Given the description of an element on the screen output the (x, y) to click on. 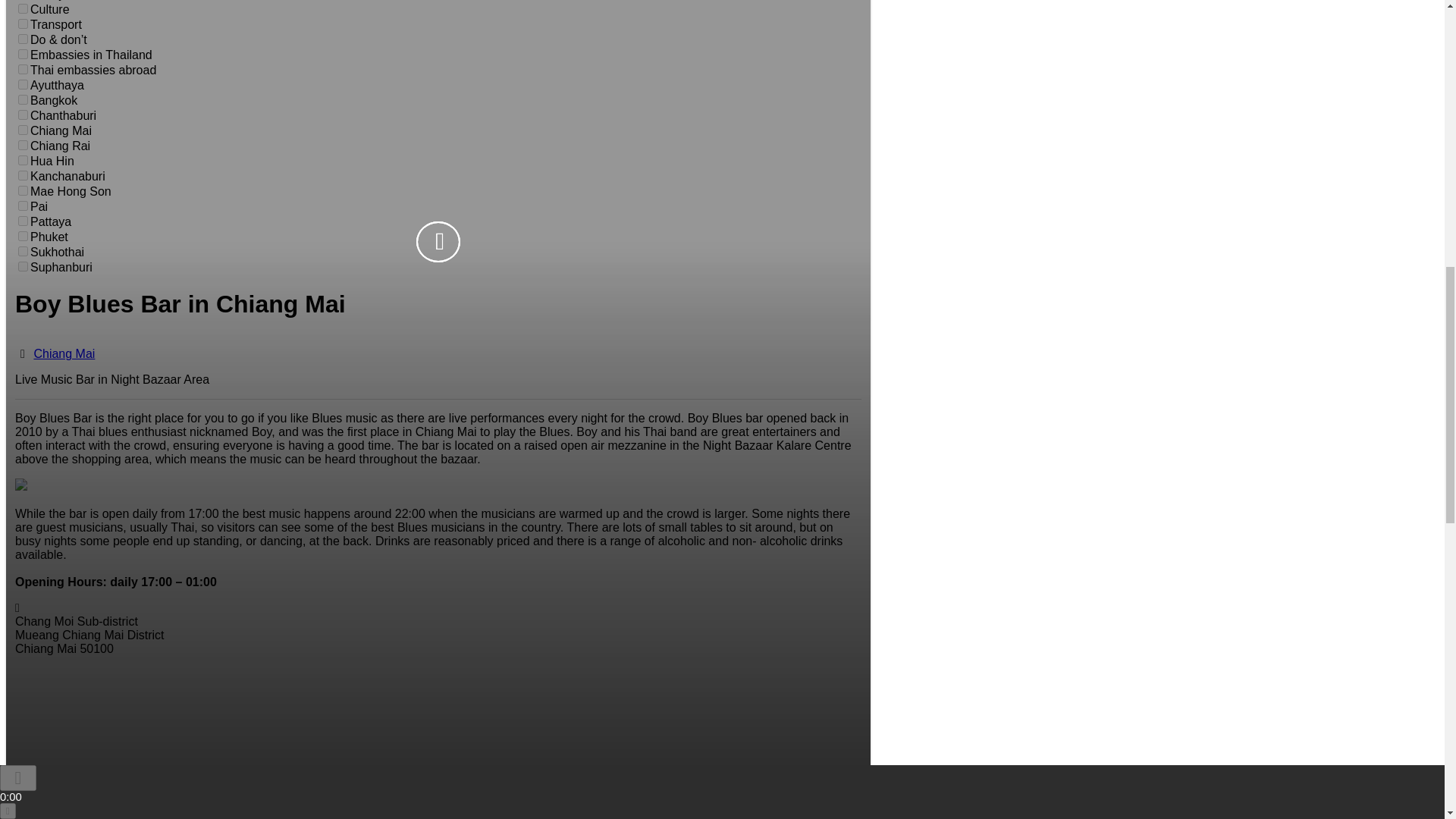
ouwczz (22, 23)
xghoze (22, 39)
wcdfan (22, 84)
cdfakb (22, 53)
cdfaeb (22, 114)
ghouwr (22, 130)
axghzp (22, 8)
faxghk (22, 144)
xghoue (22, 99)
houwct (22, 160)
dfaxkm (22, 69)
cdfaxb (22, 175)
